Given the description of an element on the screen output the (x, y) to click on. 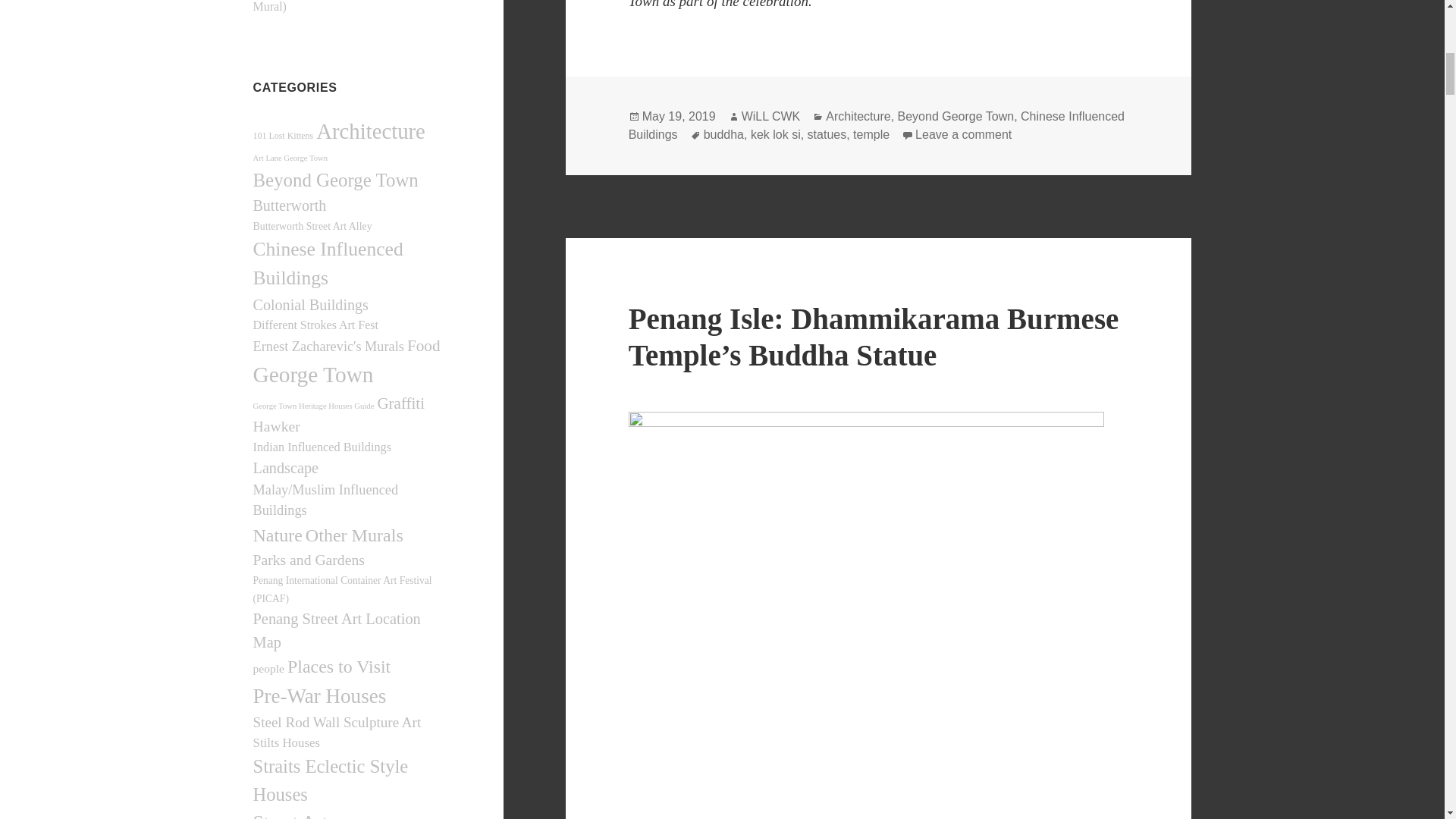
Beyond George Town (336, 179)
Butterworth Street Art Alley (312, 225)
Graffiti (401, 402)
George Town (313, 374)
Colonial Buildings (310, 304)
Different Strokes Art Fest (315, 324)
Chinese Influenced Buildings (328, 263)
Nature (277, 535)
Ernest Zacharevic's Murals (328, 346)
101 Lost Kittens (283, 135)
